Given the description of an element on the screen output the (x, y) to click on. 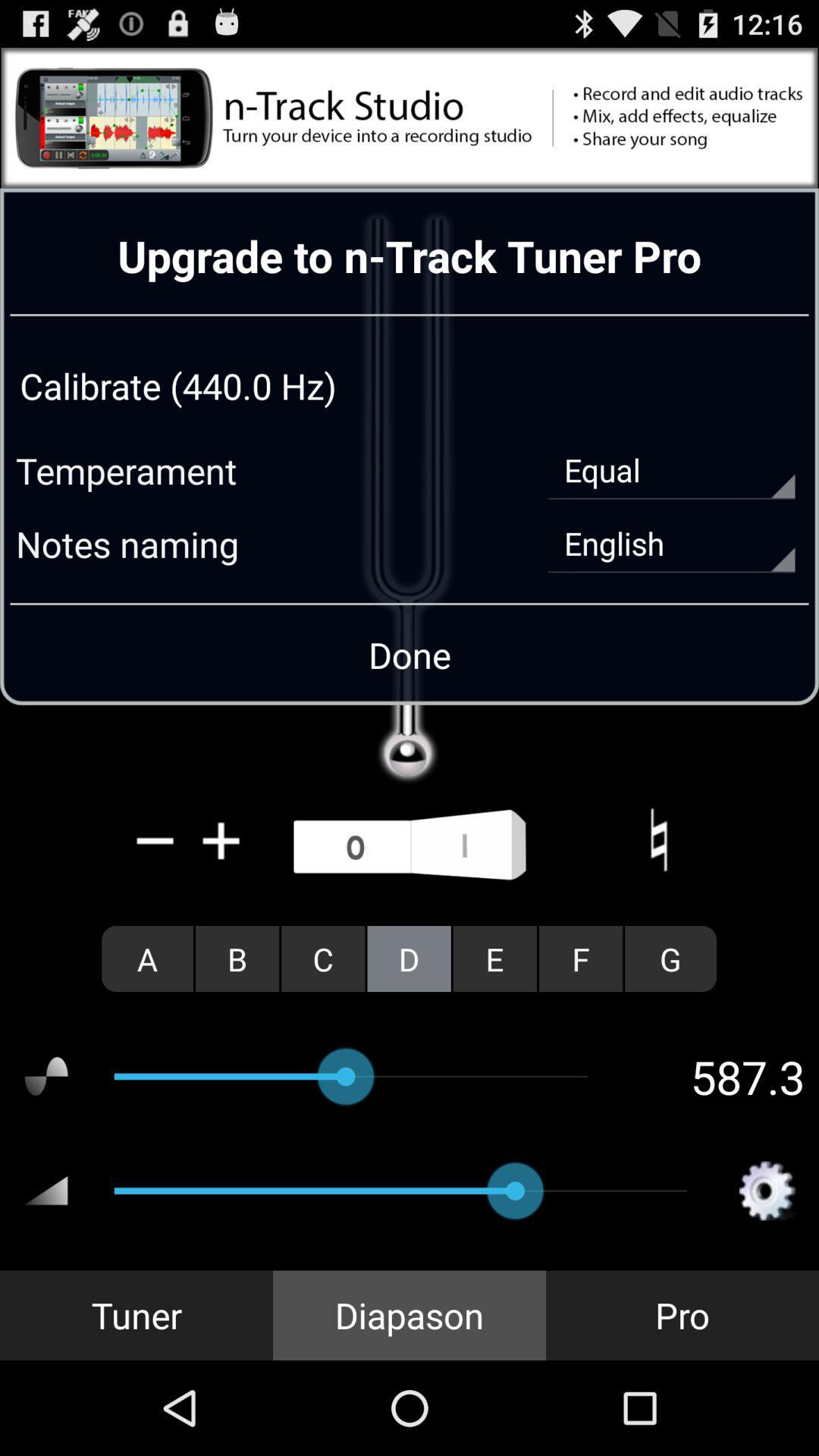
open the e radio button (494, 958)
